Given the description of an element on the screen output the (x, y) to click on. 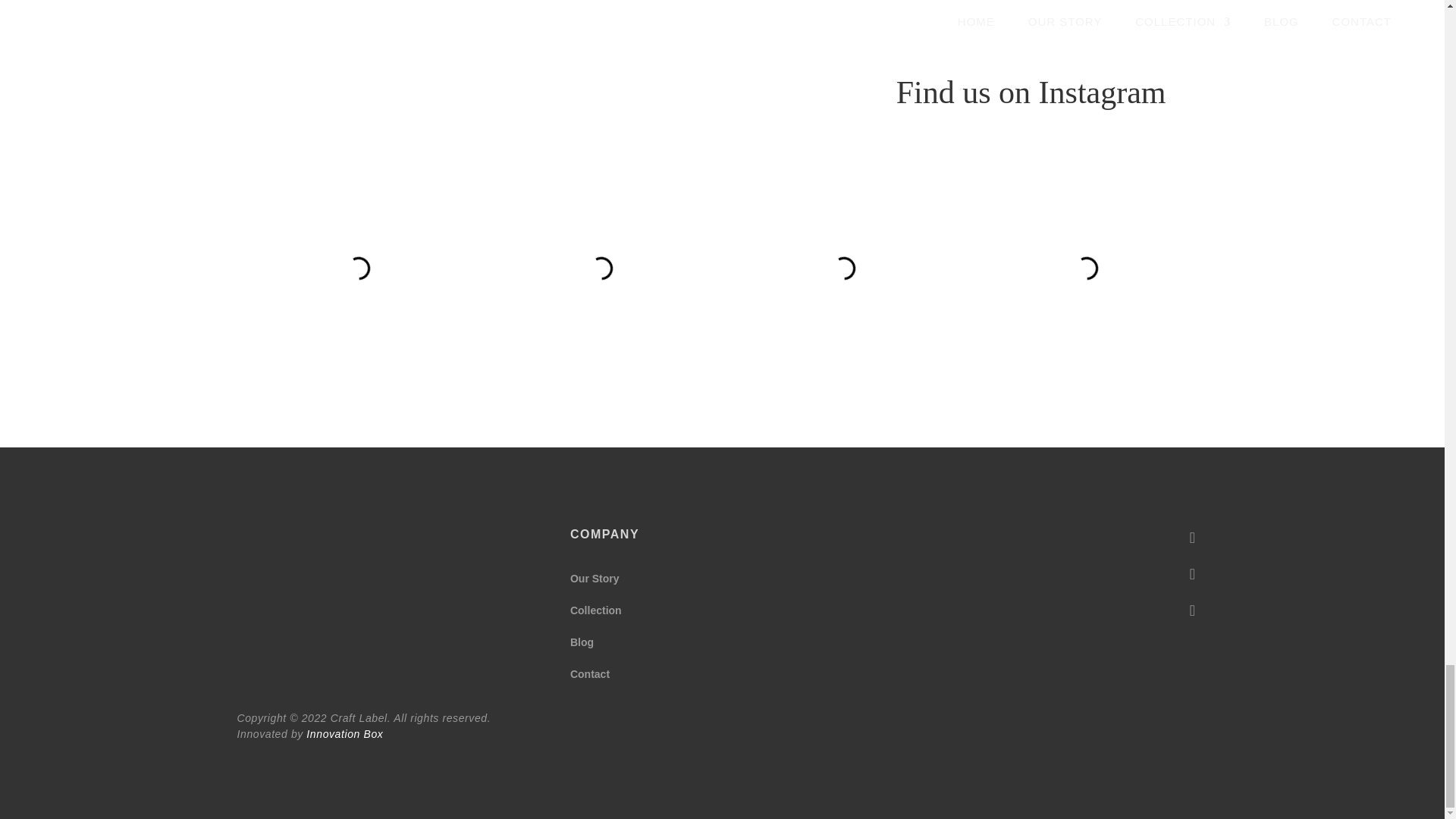
Follow on Twitter (1191, 610)
Follow on Instagram (1191, 573)
Follow on Facebook (1191, 537)
